Given the description of an element on the screen output the (x, y) to click on. 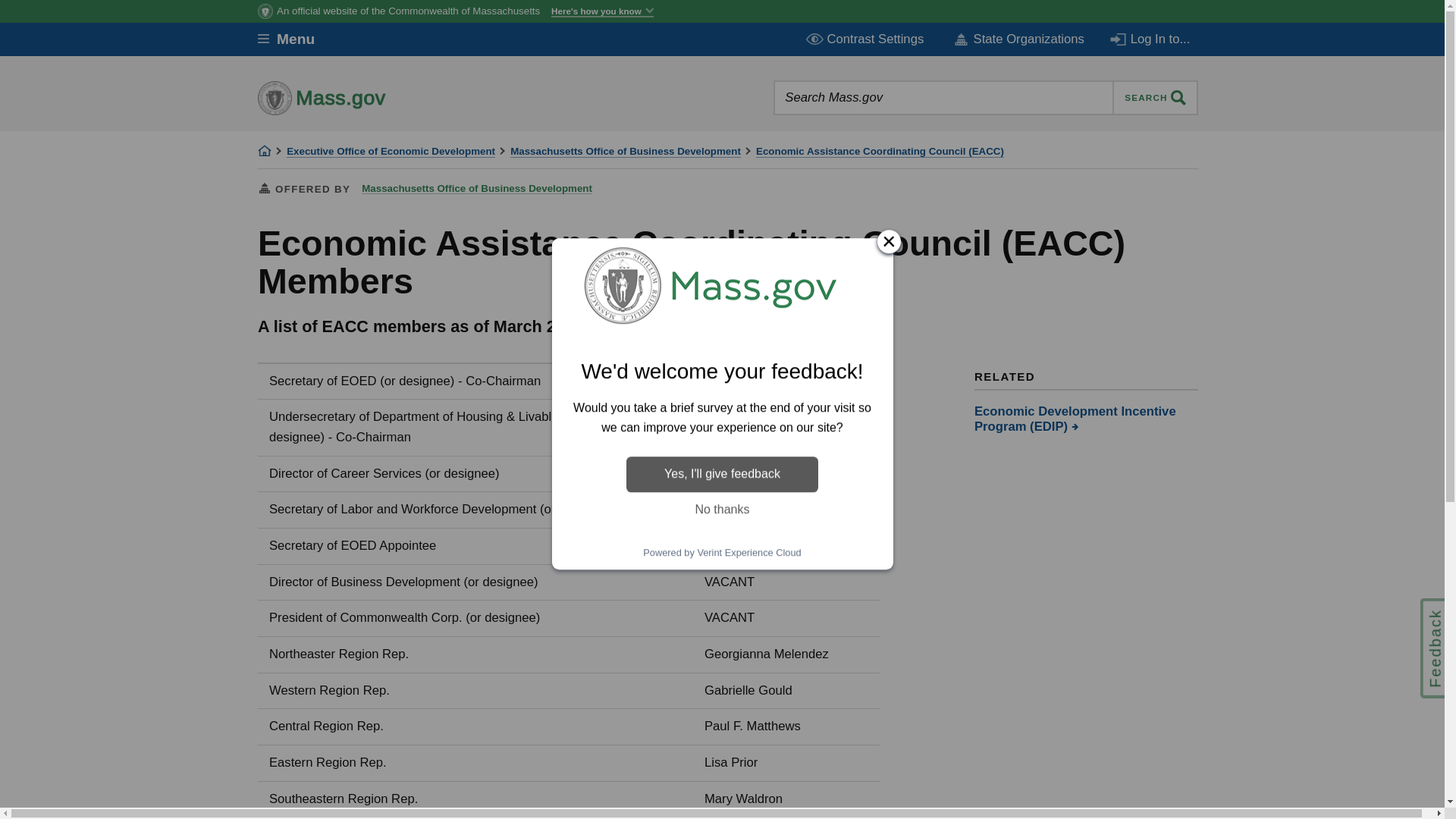
Contrast Settings (866, 38)
Mass.gov home page (369, 97)
Log In to... (1151, 38)
State Organizations (1018, 39)
Menu (297, 39)
